Given the description of an element on the screen output the (x, y) to click on. 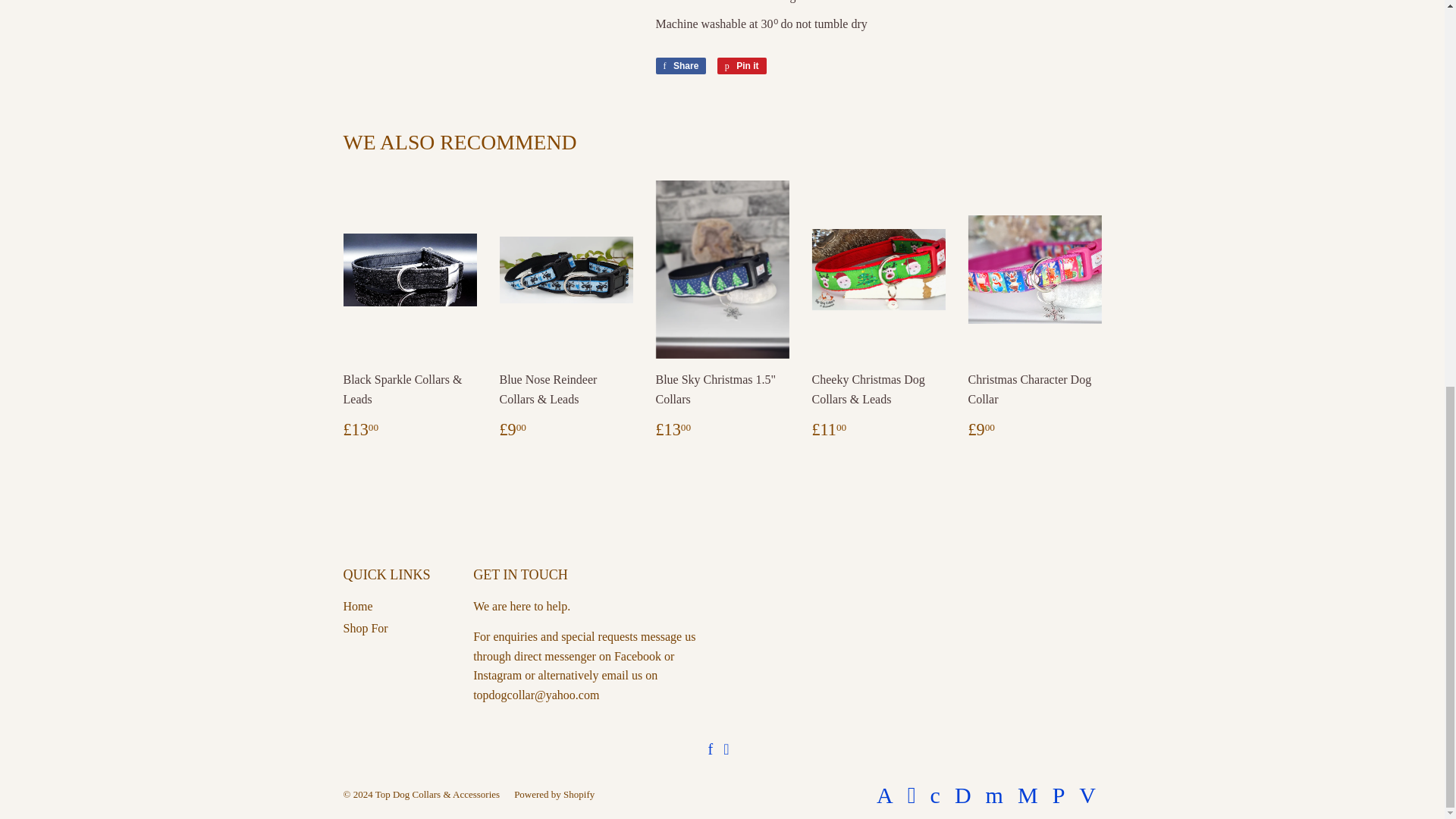
Pin on Pinterest (742, 65)
Share on Facebook (680, 65)
Shop For (364, 627)
Home (357, 605)
